Given the description of an element on the screen output the (x, y) to click on. 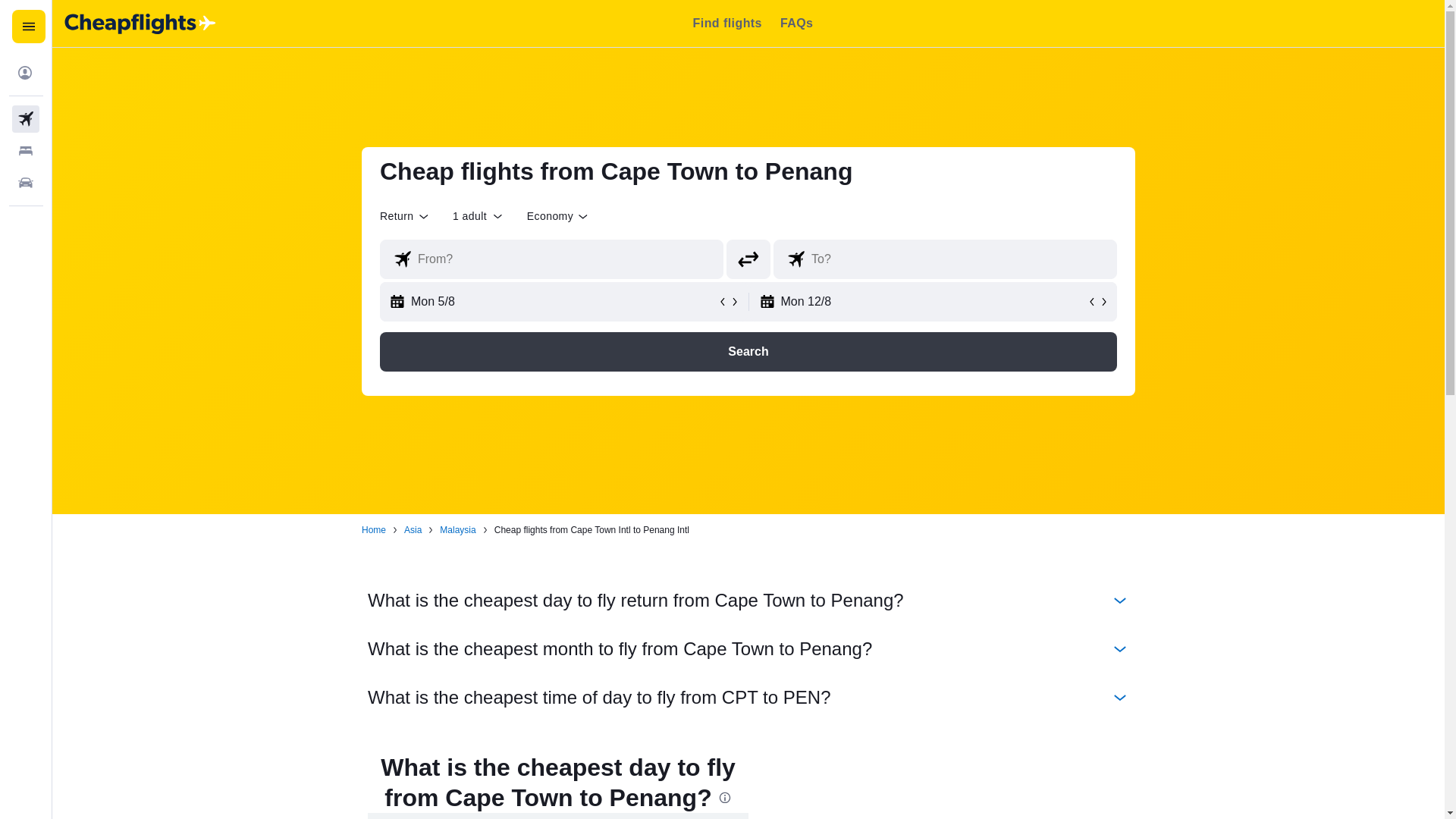
Asia (413, 530)
Search (748, 351)
Malaysia (457, 530)
Search (748, 351)
Home (373, 530)
